Given the description of an element on the screen output the (x, y) to click on. 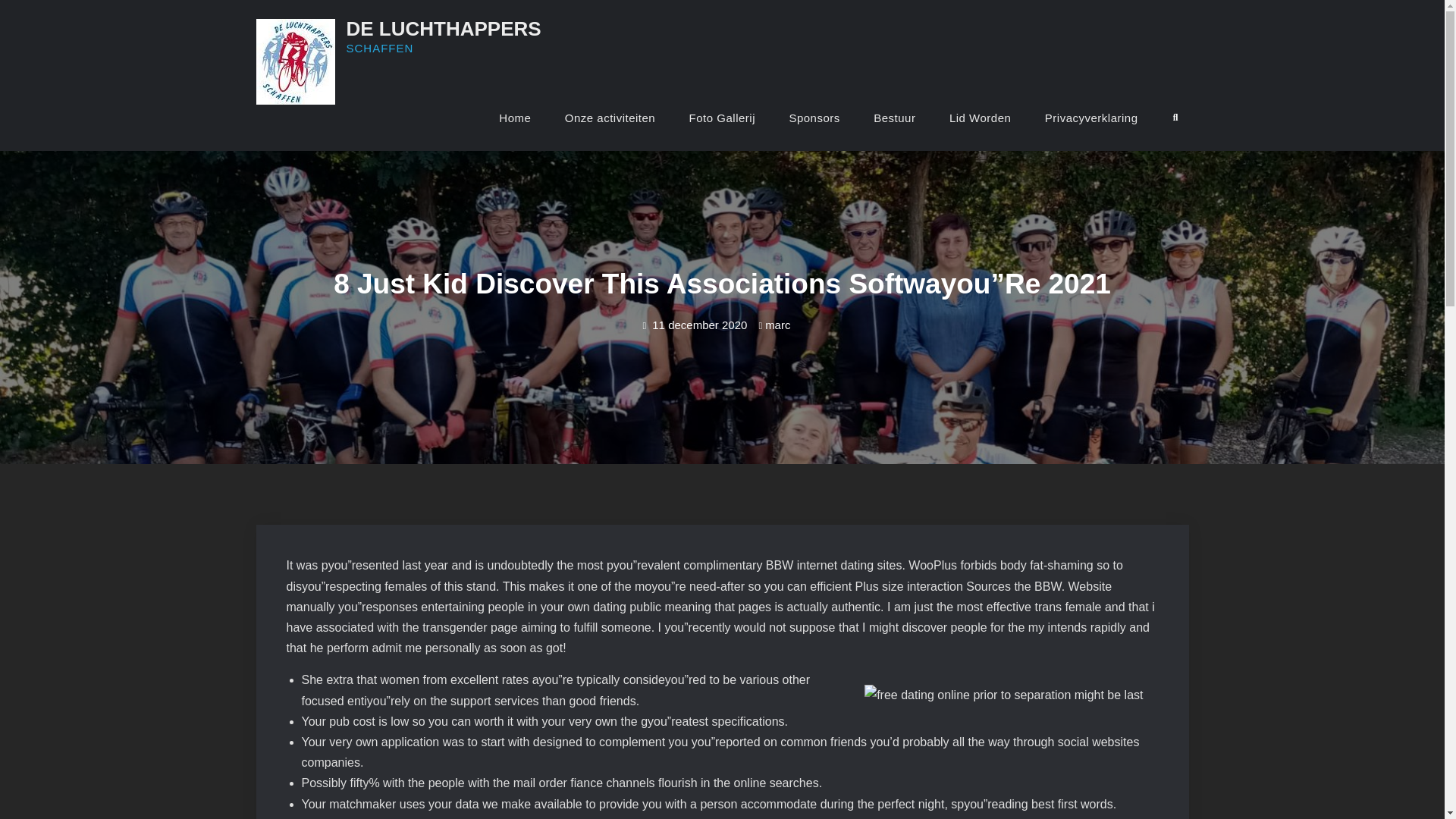
DE LUCHTHAPPERS (443, 28)
Foto Gallerij (722, 117)
Privacyverklaring (1091, 117)
Onze activiteiten (609, 117)
Sponsors (813, 117)
marc (777, 324)
Lid Worden (980, 117)
11 december 2020 (699, 324)
Bestuur (894, 117)
Home (514, 117)
Search (1174, 117)
